Given the description of an element on the screen output the (x, y) to click on. 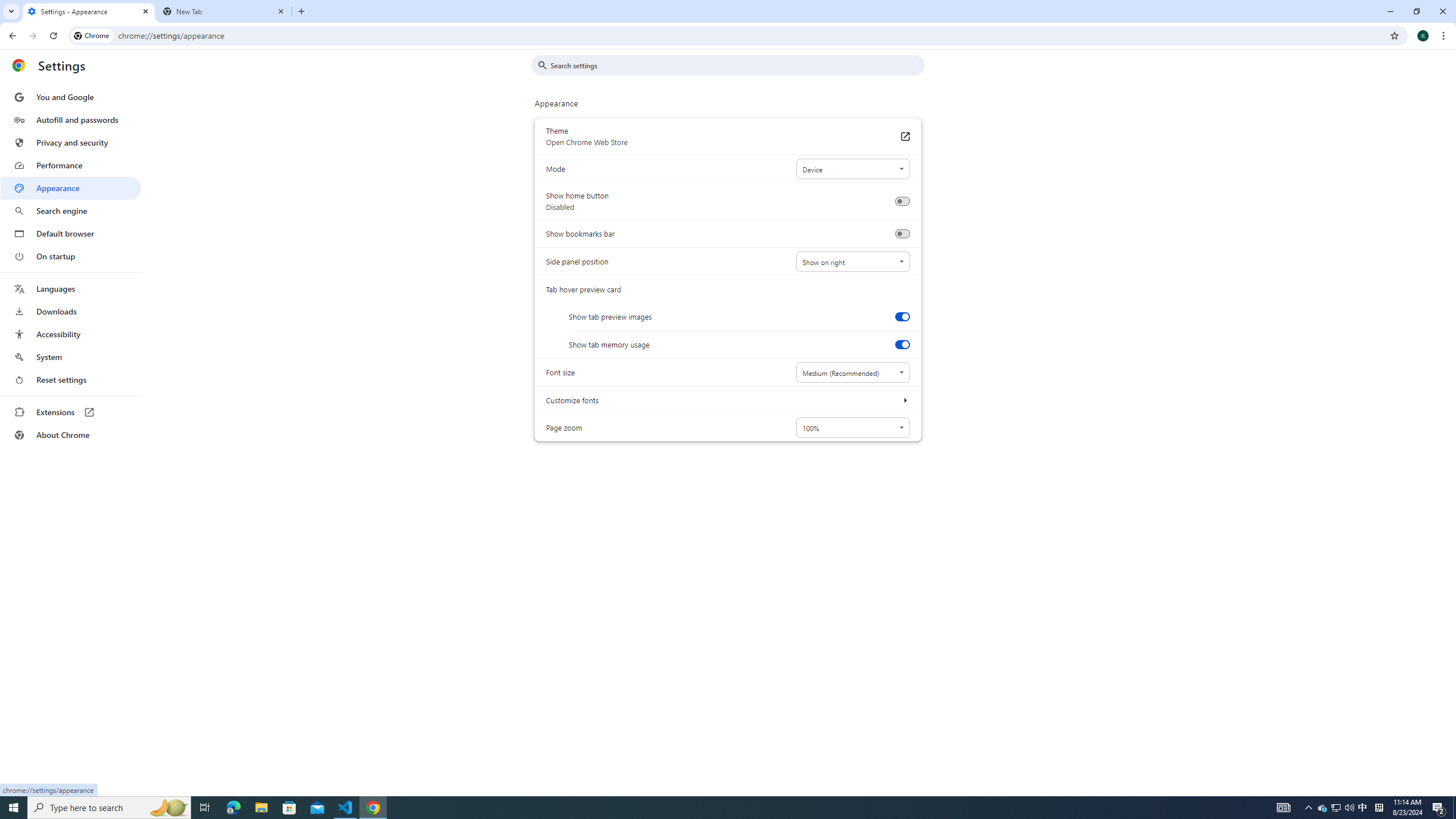
Show tab memory usage (901, 344)
Accessibility (70, 333)
Appearance (70, 187)
Mode (852, 168)
Reset settings (70, 379)
Autofill and passwords (70, 119)
Default browser (70, 233)
AutomationID: menu (71, 265)
